Given the description of an element on the screen output the (x, y) to click on. 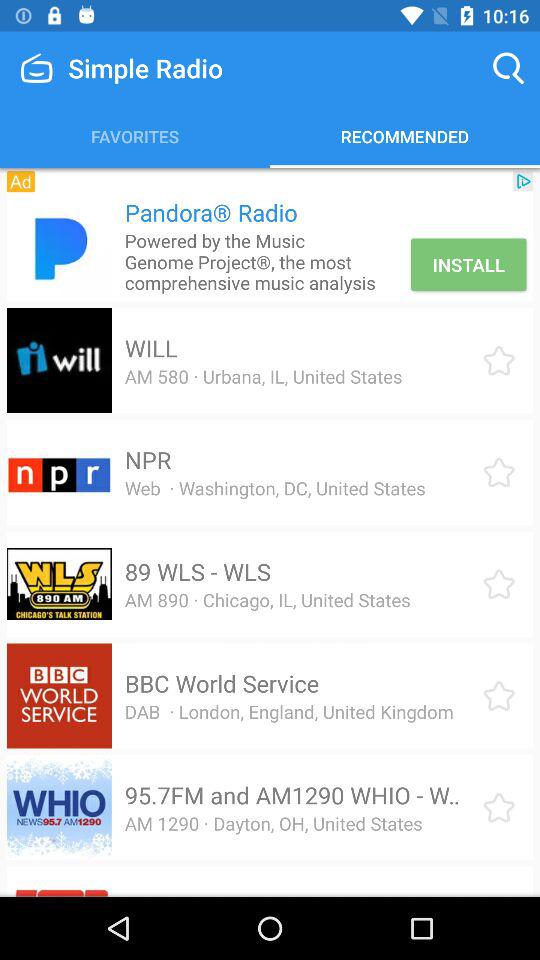
scroll until install (468, 264)
